Given the description of an element on the screen output the (x, y) to click on. 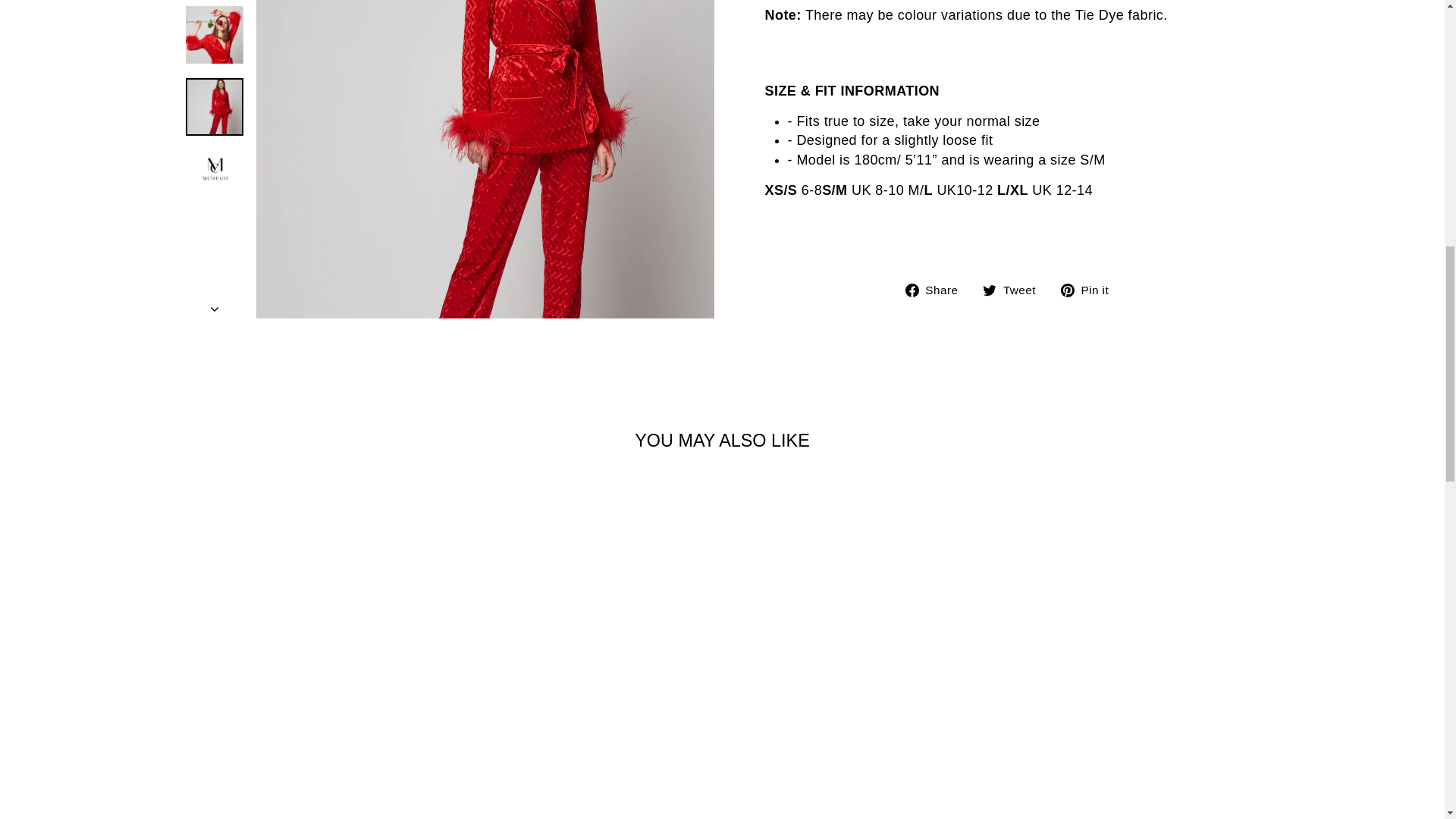
twitter (988, 290)
Pin on Pinterest (1090, 289)
Share on Facebook (937, 289)
Tweet on Twitter (1014, 289)
